Given the description of an element on the screen output the (x, y) to click on. 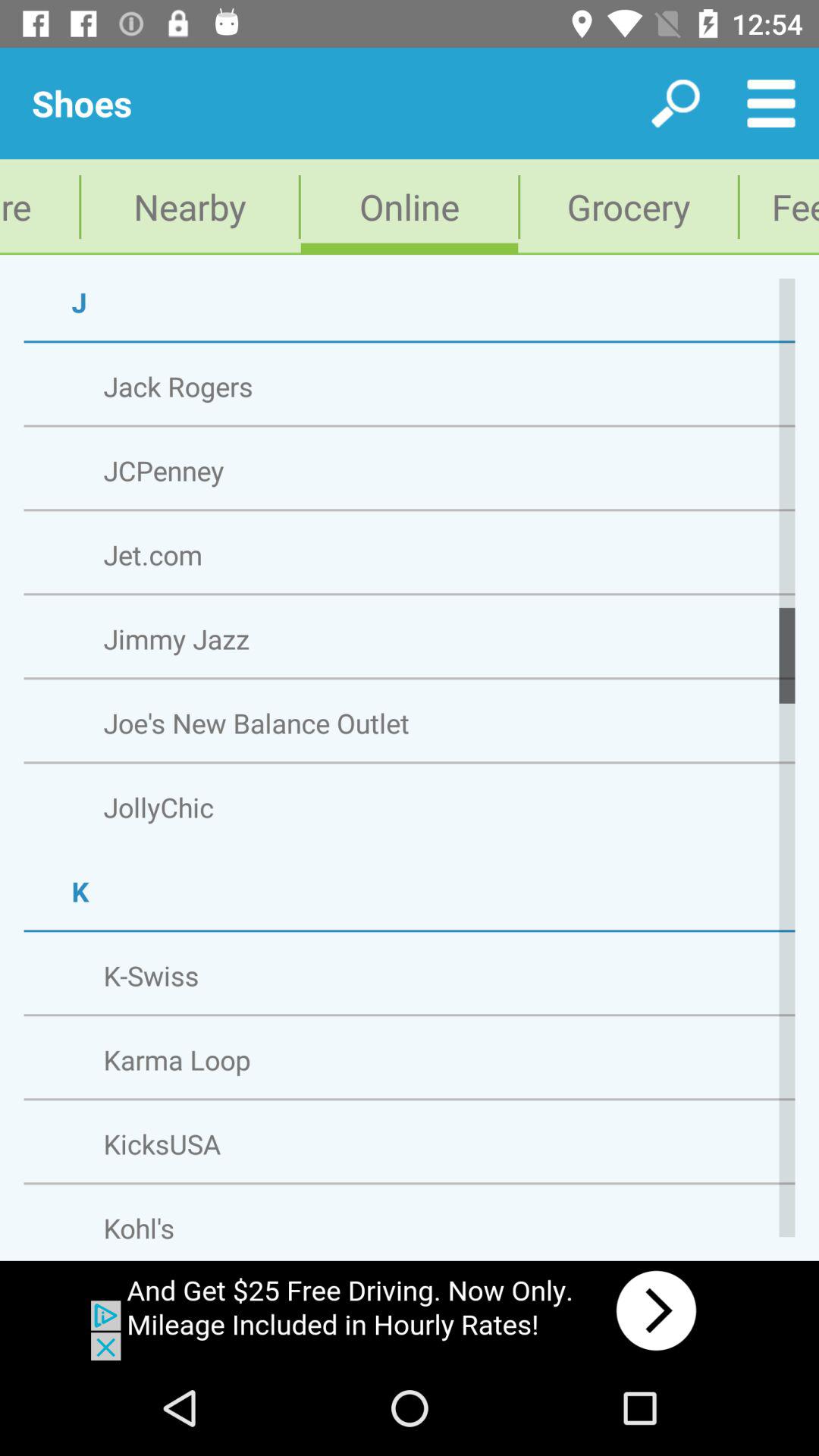
click on the search option (675, 103)
select the text which is left to the online (189, 206)
